Given the description of an element on the screen output the (x, y) to click on. 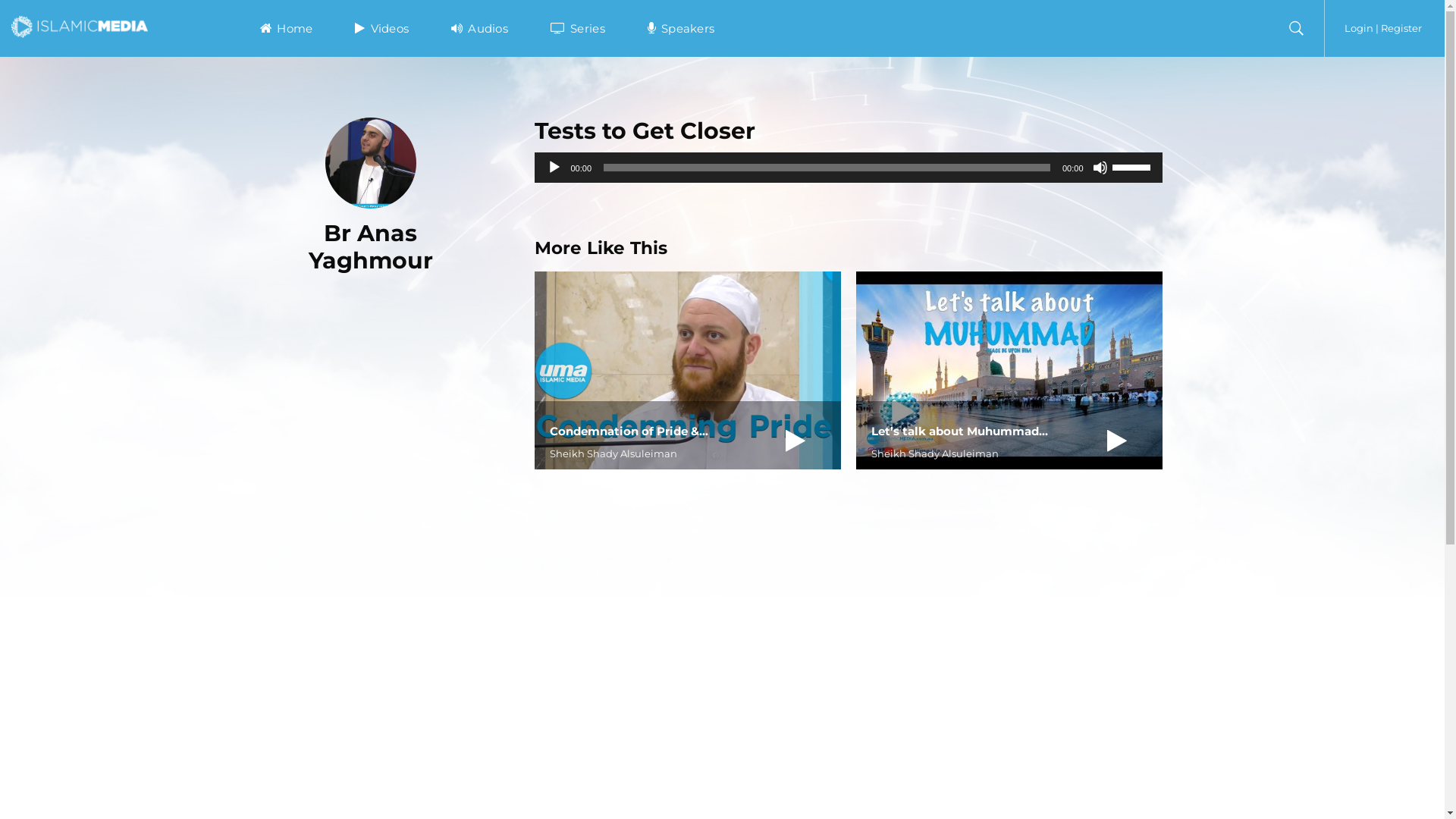
Series Element type: text (577, 28)
Play Element type: hover (553, 167)
Speakers Element type: text (680, 28)
Search Videos Element type: text (691, 281)
Login Element type: text (1358, 27)
Use Up/Down Arrow keys to increase or decrease volume. Element type: text (1132, 165)
Mute Element type: hover (1099, 167)
Videos Element type: text (381, 28)
Islamic Media Element type: hover (79, 25)
Audios Element type: text (479, 28)
Register Element type: text (1400, 27)
Condemnation of Pride &...
Sheikh Shady Alsuleiman Element type: text (686, 370)
Home Element type: text (285, 28)
